Given the description of an element on the screen output the (x, y) to click on. 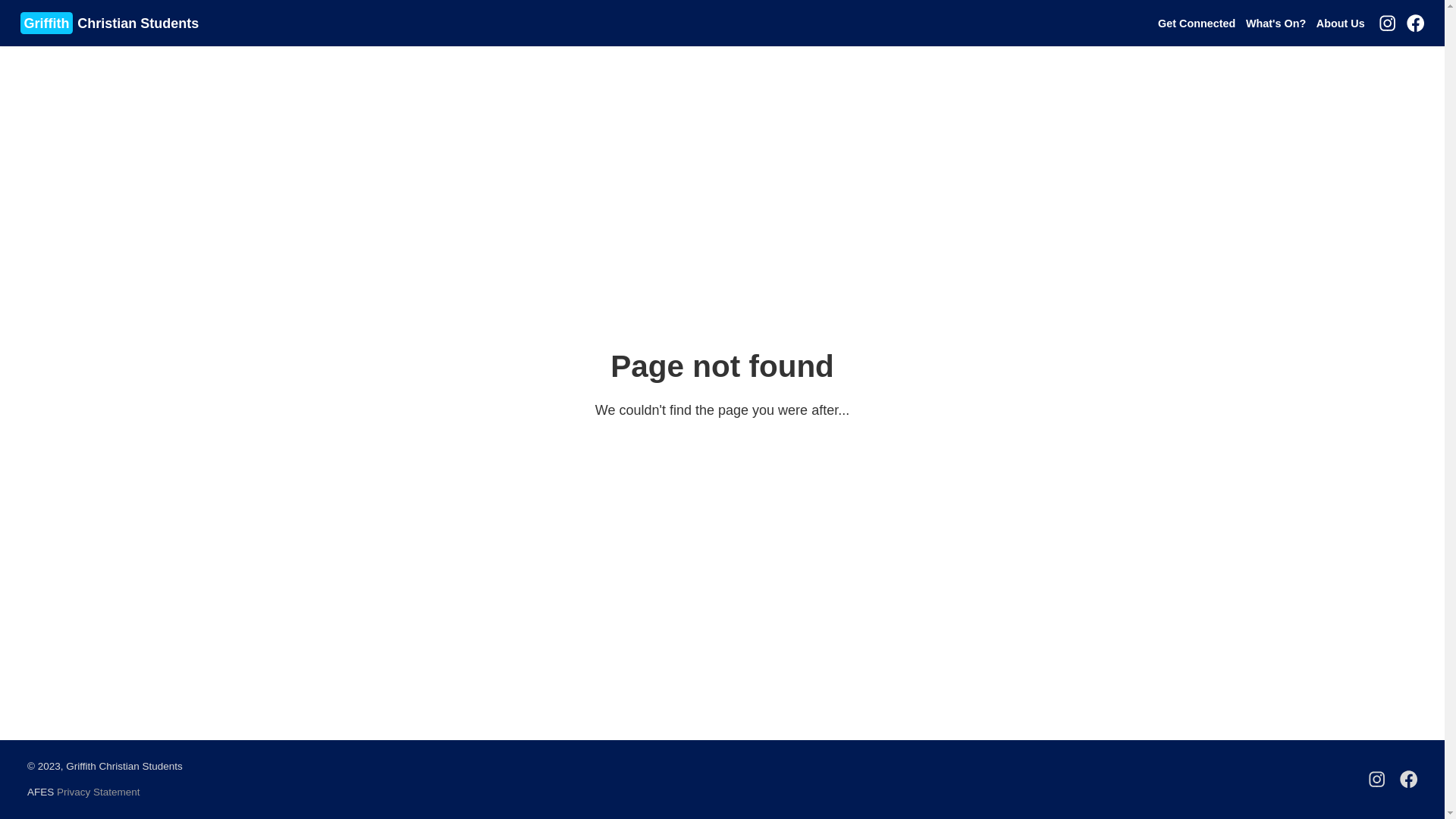
GriffithChristian Students Element type: text (111, 22)
What's On? Element type: text (1275, 22)
Privacy Statement Element type: text (98, 791)
About Us Element type: text (1340, 22)
Get Connected Element type: text (1196, 22)
